Given the description of an element on the screen output the (x, y) to click on. 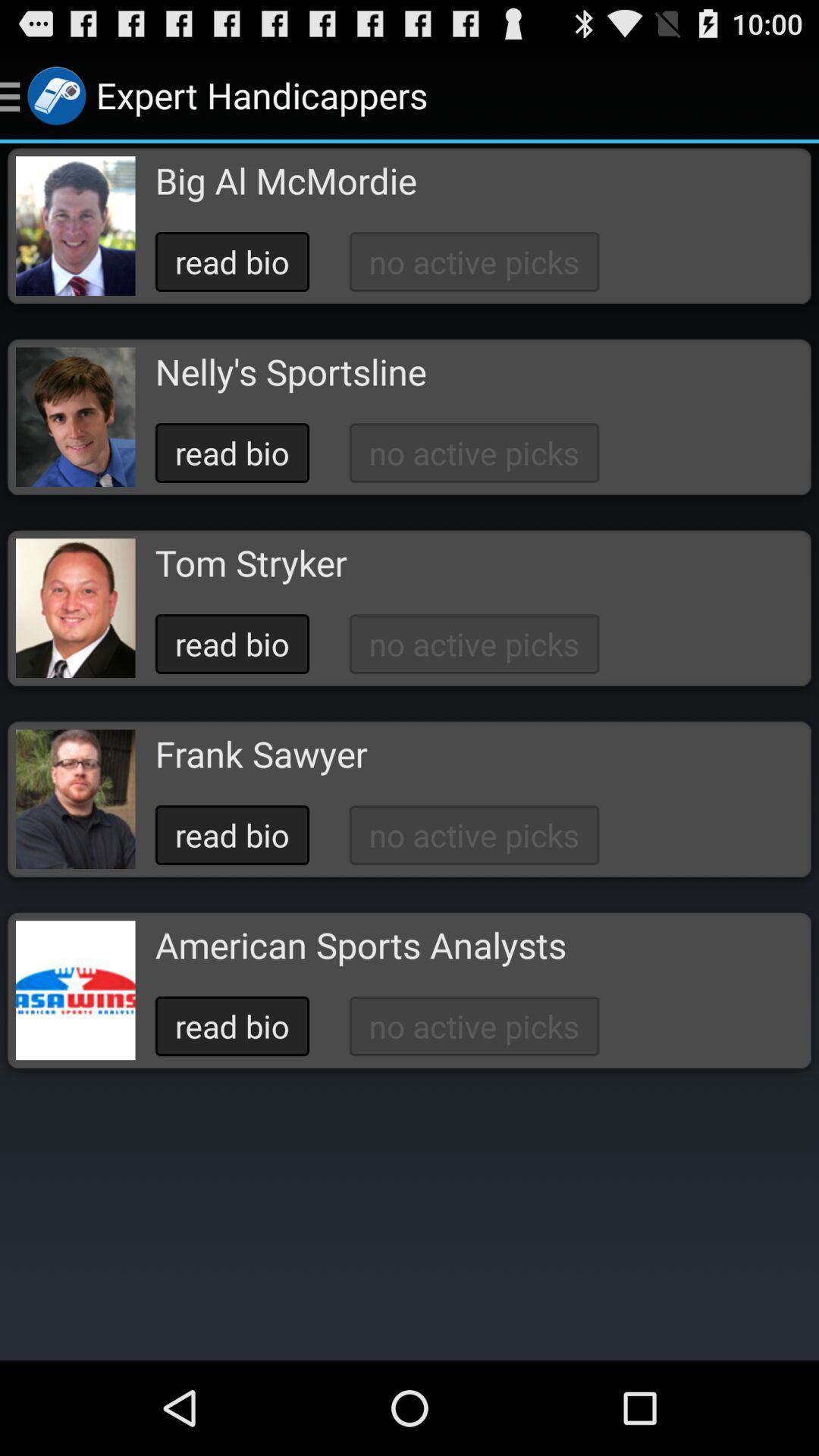
open the button below the read bio (360, 944)
